Given the description of an element on the screen output the (x, y) to click on. 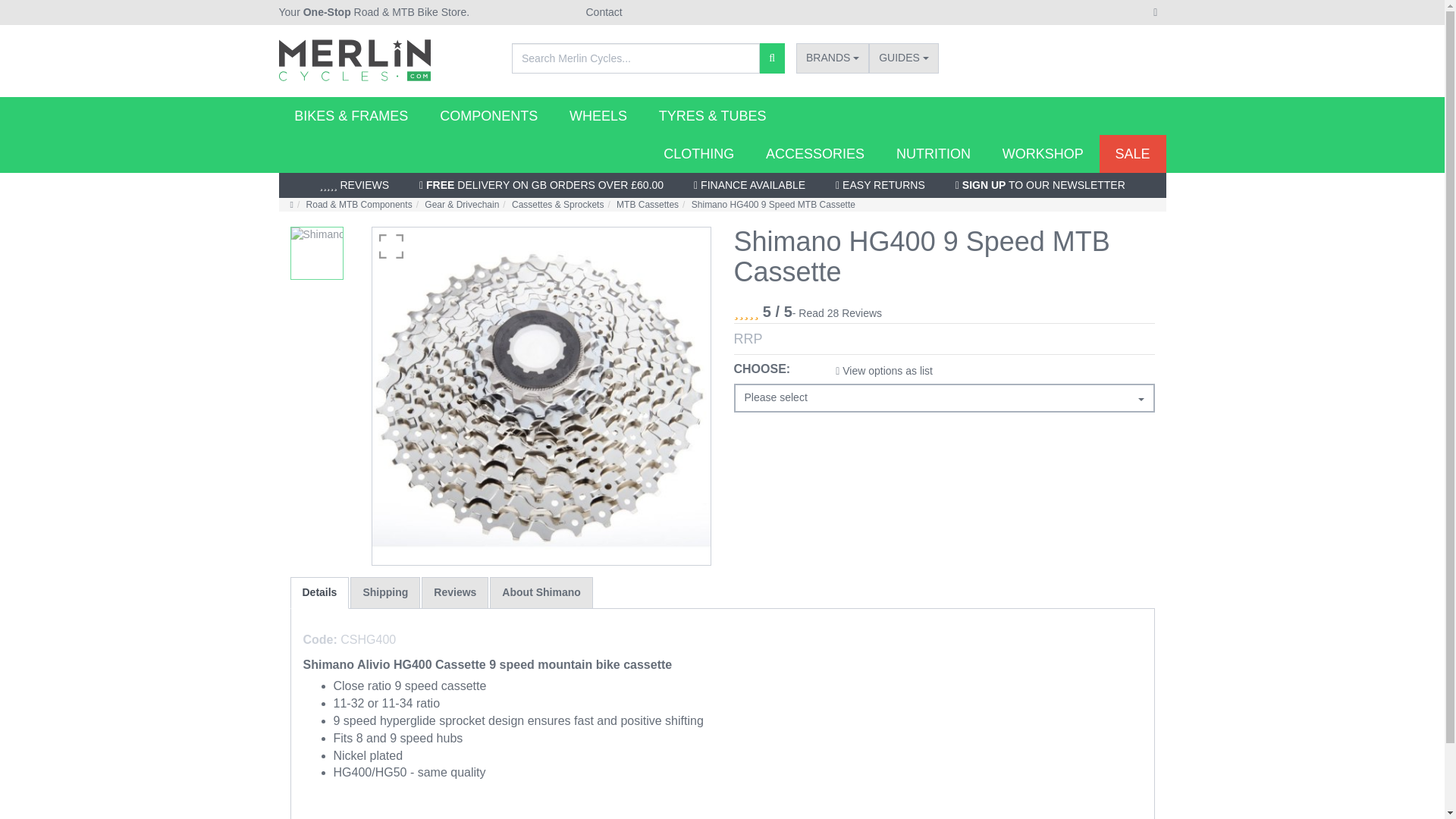
GUIDES (904, 58)
MTB Cassettes (646, 204)
SALE (1132, 153)
Read all reviews for Shimano HG400 9 Speed MTB Cassette (837, 313)
WHEELS (598, 116)
EASY RETURNS (879, 185)
FINANCE AVAILABLE (749, 185)
COMPONENTS (488, 116)
Contact (603, 11)
CLOTHING (698, 153)
